Given the description of an element on the screen output the (x, y) to click on. 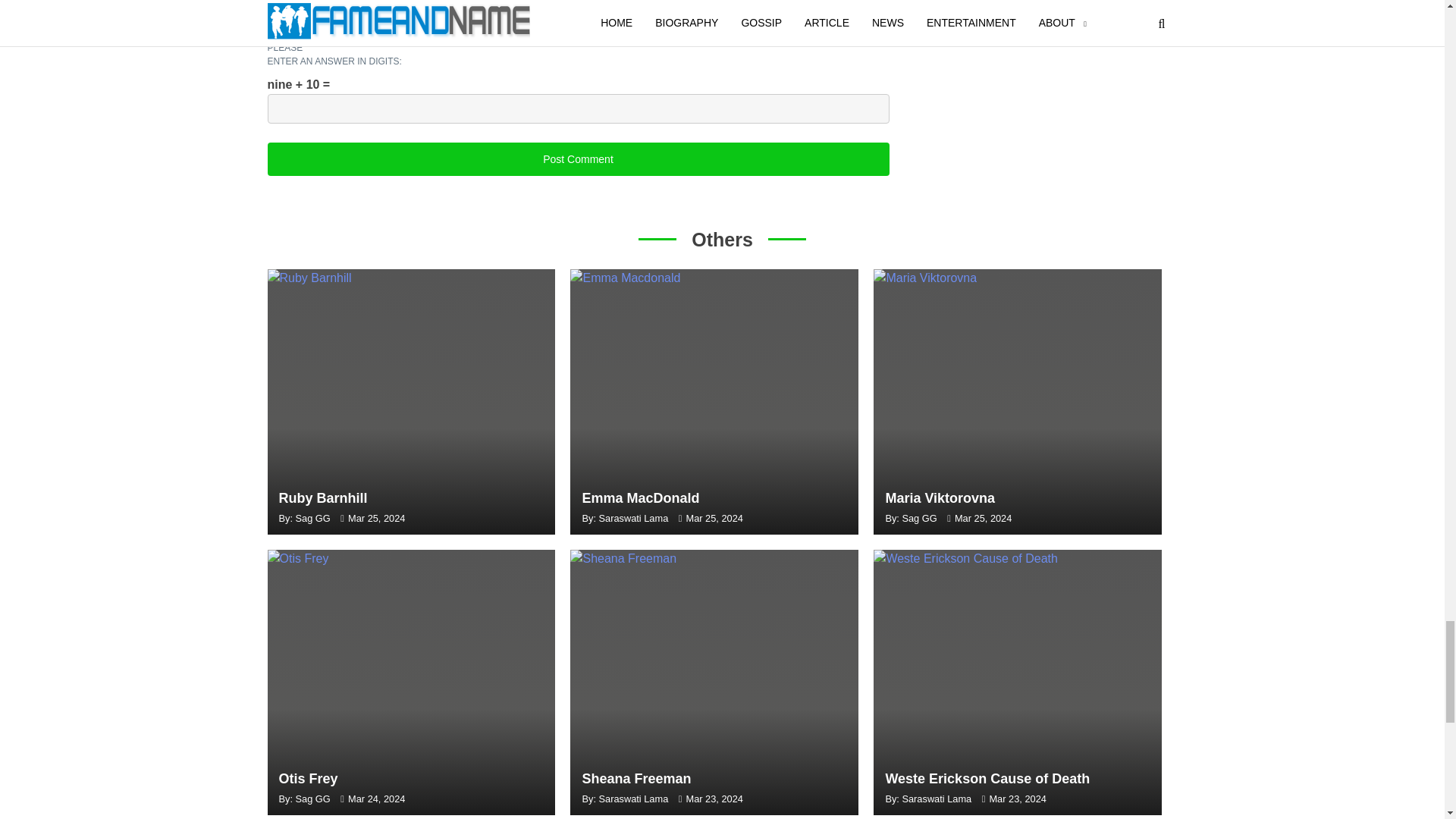
yes (297, 35)
Post Comment (577, 159)
Post Comment (577, 159)
